Given the description of an element on the screen output the (x, y) to click on. 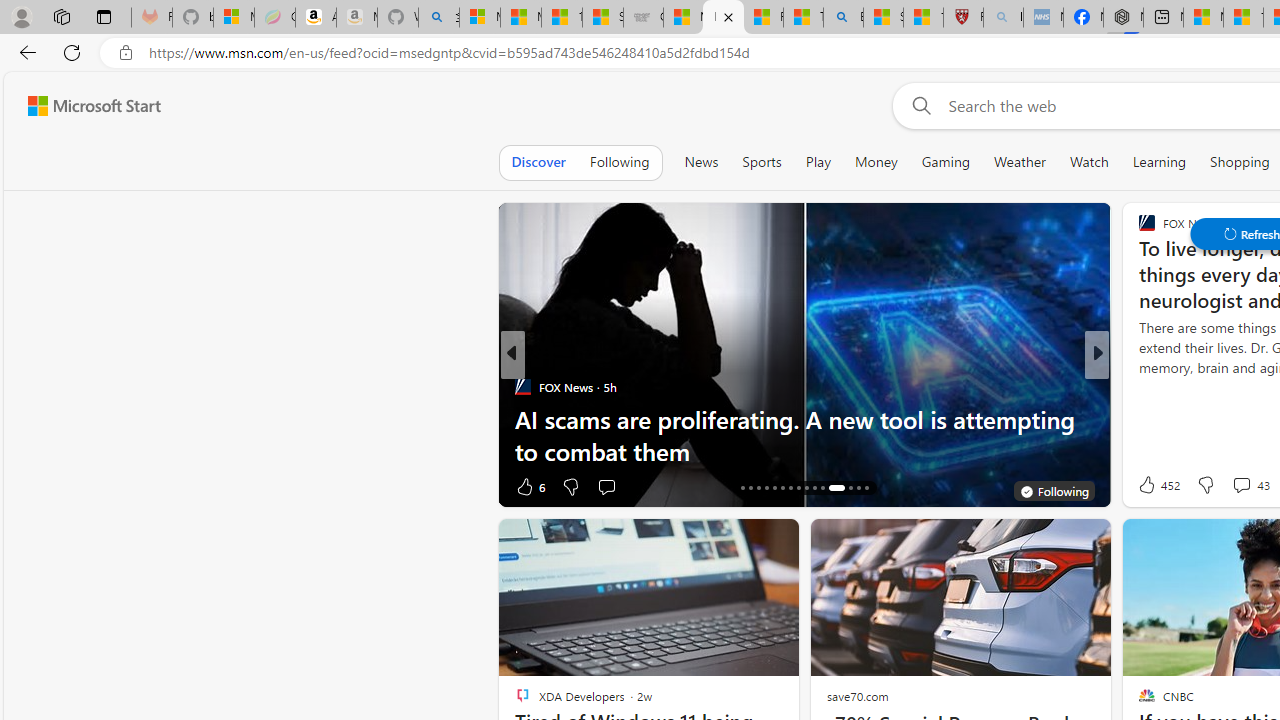
View comments 43 Comment (1249, 484)
CNET (1138, 386)
save70.com (857, 696)
You're following FOX News (1053, 490)
AutomationID: tab-17 (750, 487)
